Given the description of an element on the screen output the (x, y) to click on. 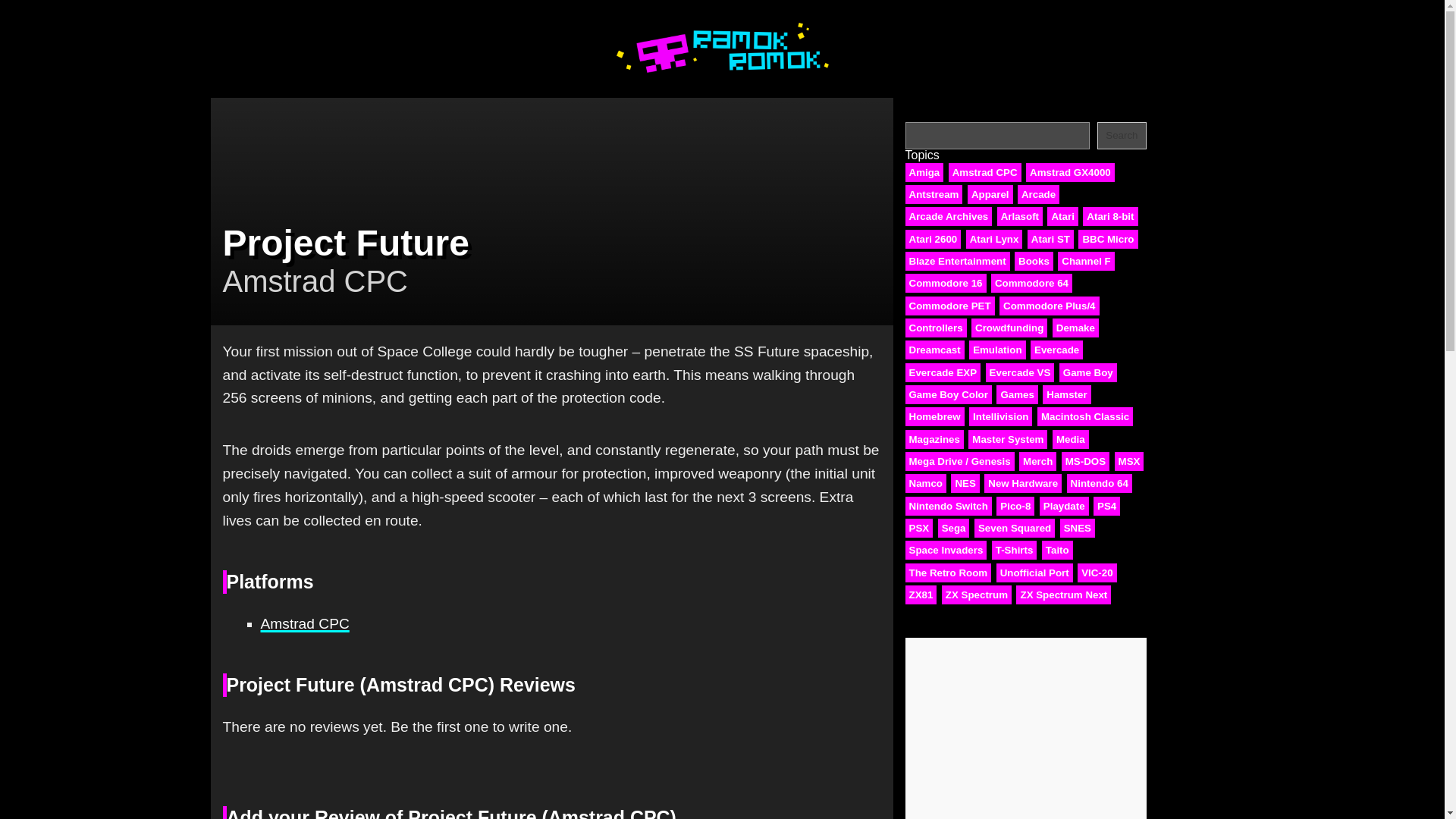
Atari ST (1050, 239)
Channel F (1085, 261)
Arlasoft (1019, 216)
Atari (1061, 216)
Game Boy Color (948, 394)
Amstrad CPC (985, 171)
Blaze Entertainment (957, 261)
Search (1121, 135)
Evercade EXP (943, 372)
Books (1033, 261)
